Given the description of an element on the screen output the (x, y) to click on. 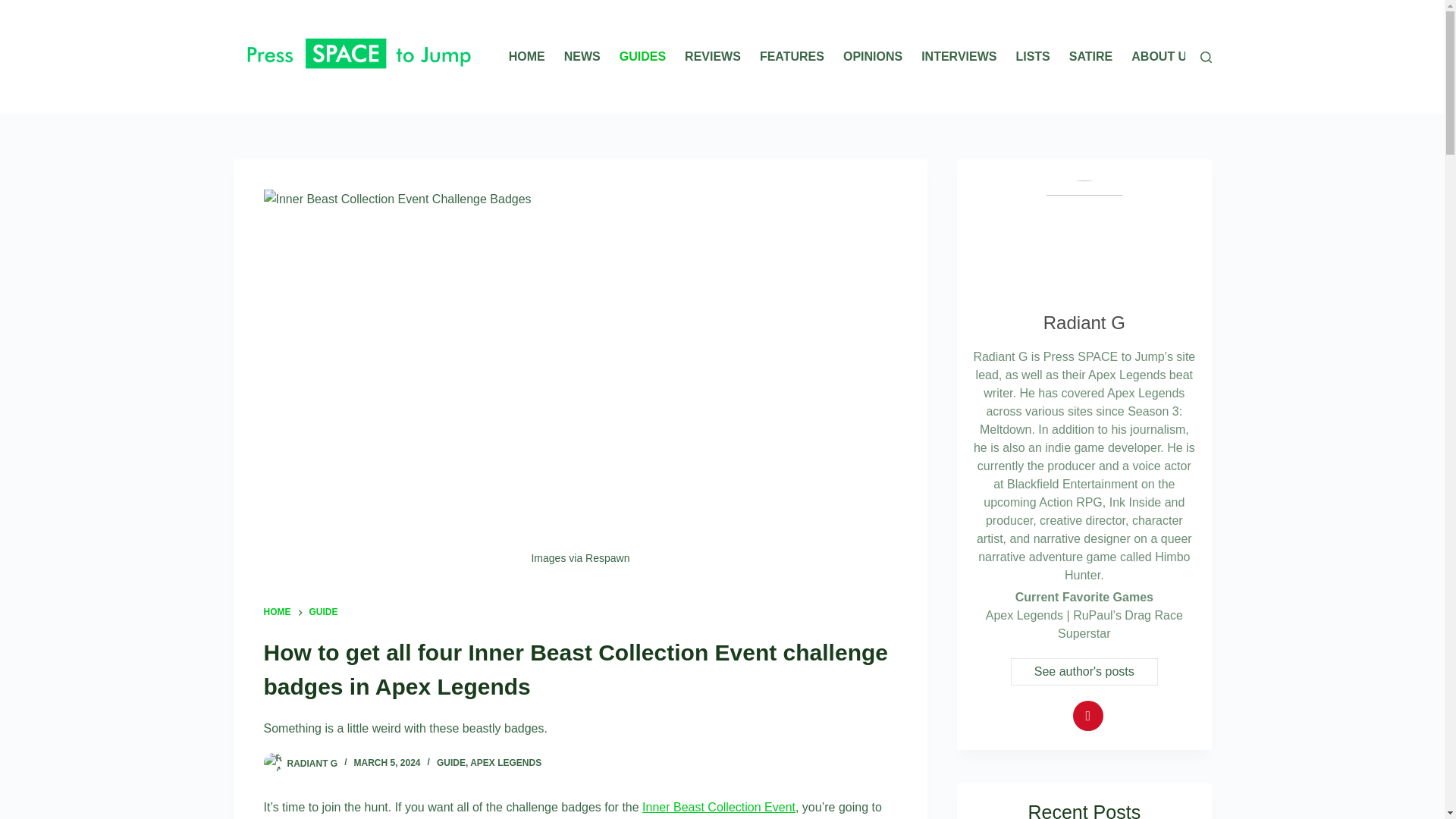
APEX LEGENDS (505, 762)
GUIDE (450, 762)
HOME (277, 612)
Inner Beast Collection Event (718, 807)
RADIANT G (311, 762)
GUIDE (322, 612)
Skip to content (15, 7)
Posts by Radiant G (311, 762)
